Given the description of an element on the screen output the (x, y) to click on. 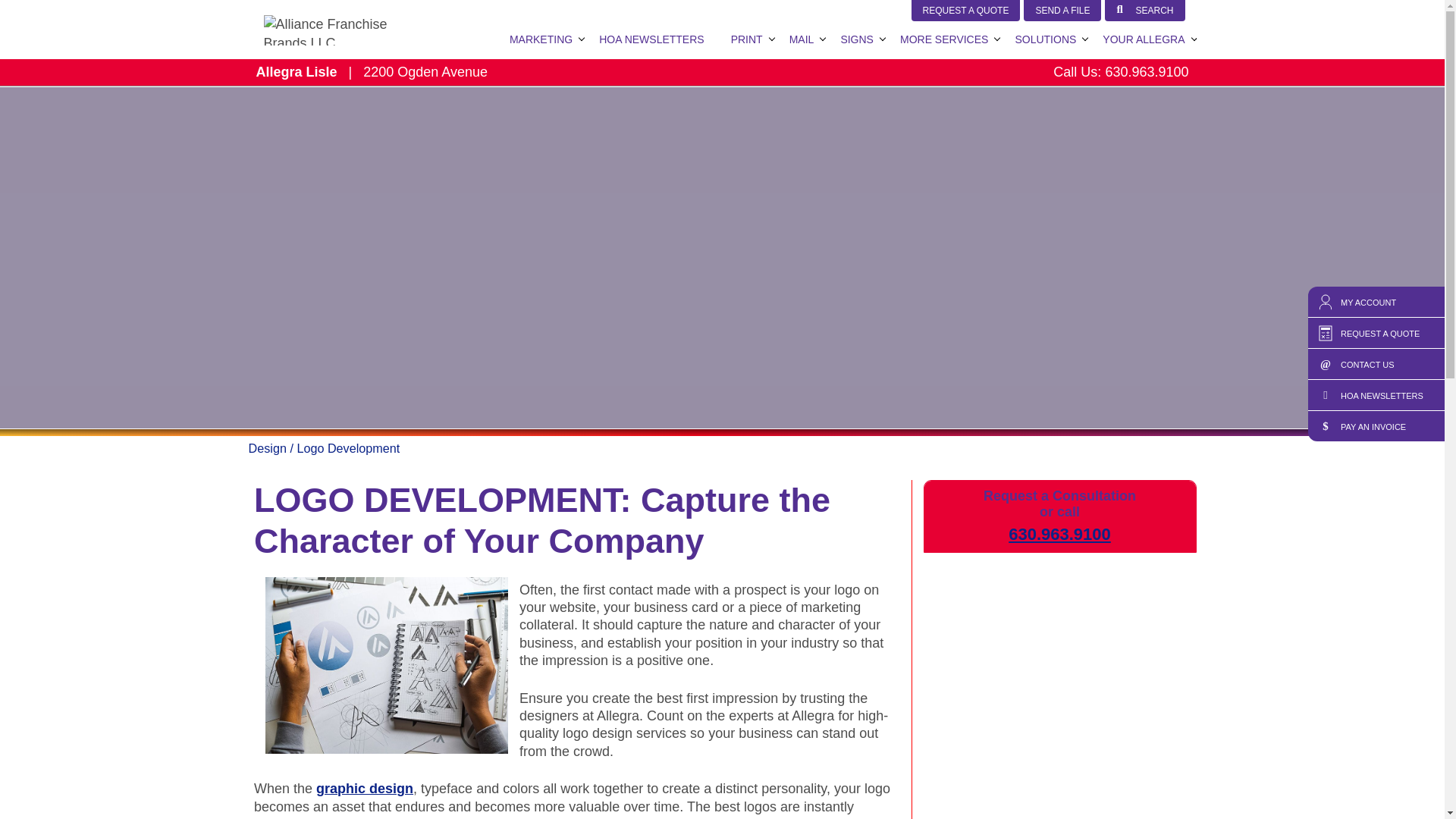
REQUEST A QUOTE (965, 10)
PRINT (746, 39)
SEARCH (1145, 10)
HOA NEWSLETTERS (651, 39)
SEND A FILE (1061, 10)
MARKETING (540, 39)
